Given the description of an element on the screen output the (x, y) to click on. 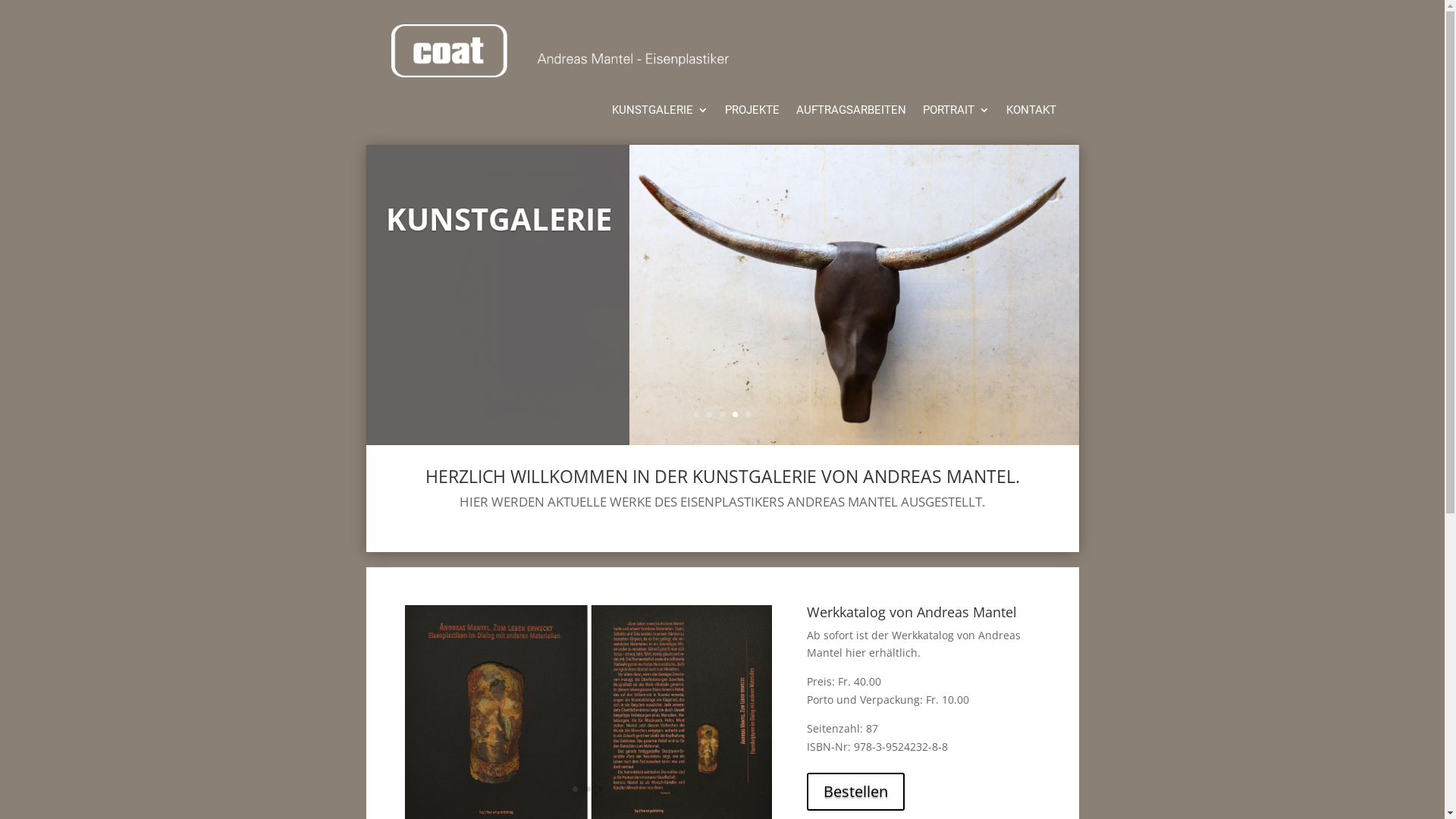
2 Element type: text (587, 788)
2 Element type: text (709, 414)
1 Element type: text (696, 414)
1 Element type: text (574, 788)
3 Element type: text (600, 788)
Bestellen Element type: text (855, 791)
AUFTRAGSARBEITEN Element type: text (851, 118)
4 Element type: text (734, 414)
KUNSTGALERIE Element type: text (659, 118)
5 Element type: text (747, 414)
PROJEKTE Element type: text (751, 118)
3 Element type: text (721, 414)
PORTRAIT Element type: text (955, 118)
KONTAKT Element type: text (1030, 118)
